Given the description of an element on the screen output the (x, y) to click on. 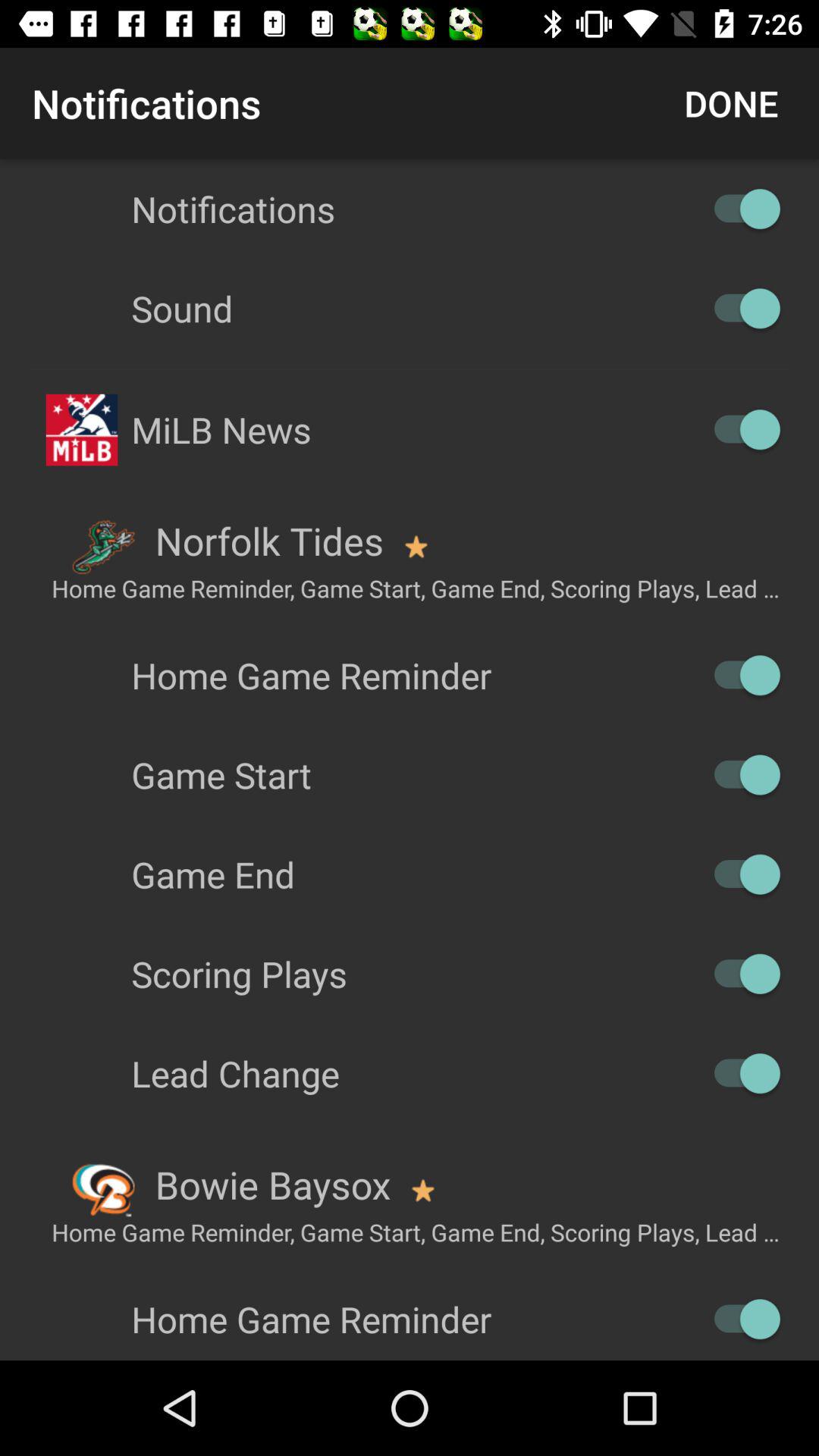
toggle lead change option (739, 1073)
